Given the description of an element on the screen output the (x, y) to click on. 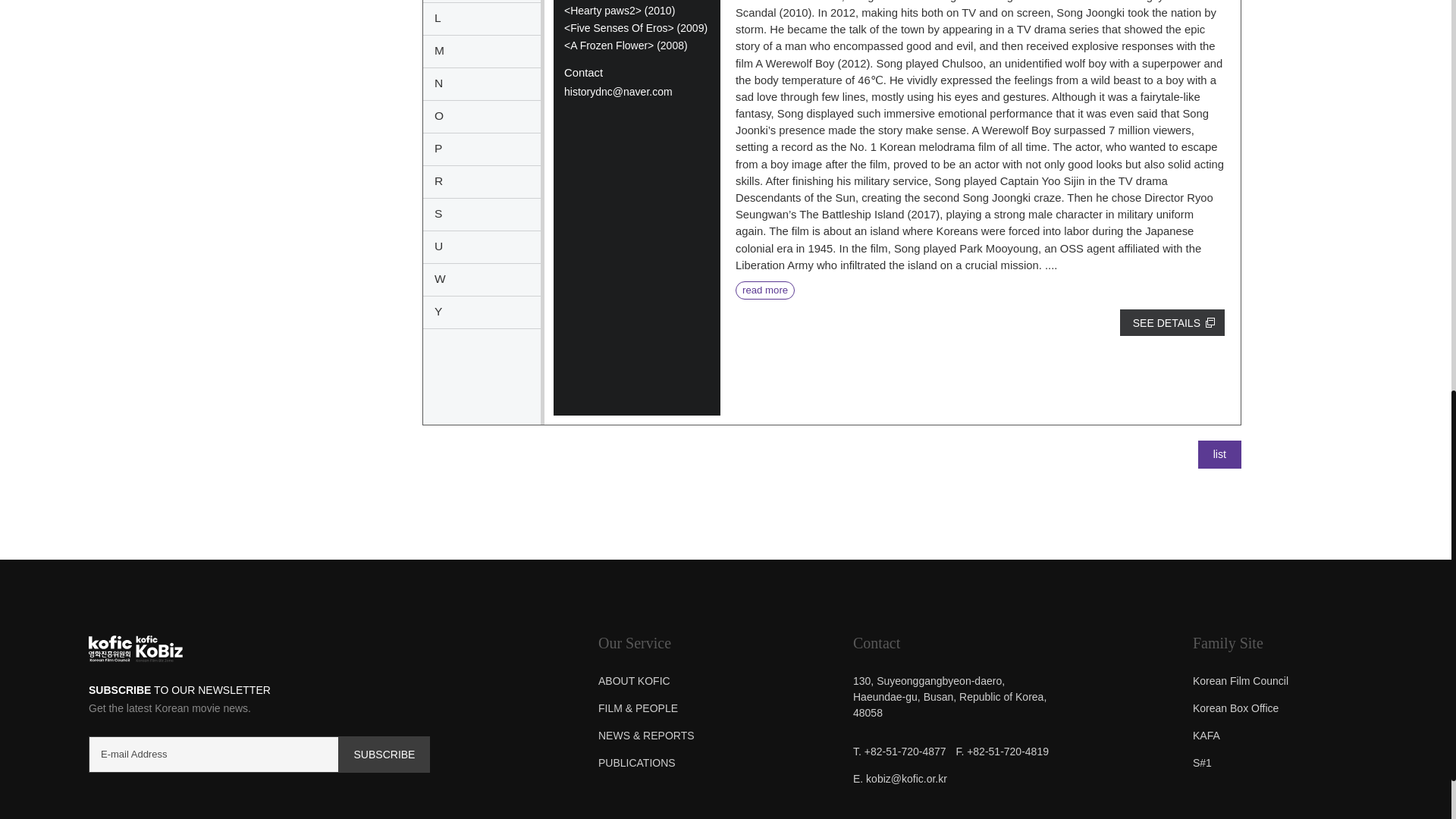
SEE DETAILS (1171, 322)
list (1219, 454)
